Given the description of an element on the screen output the (x, y) to click on. 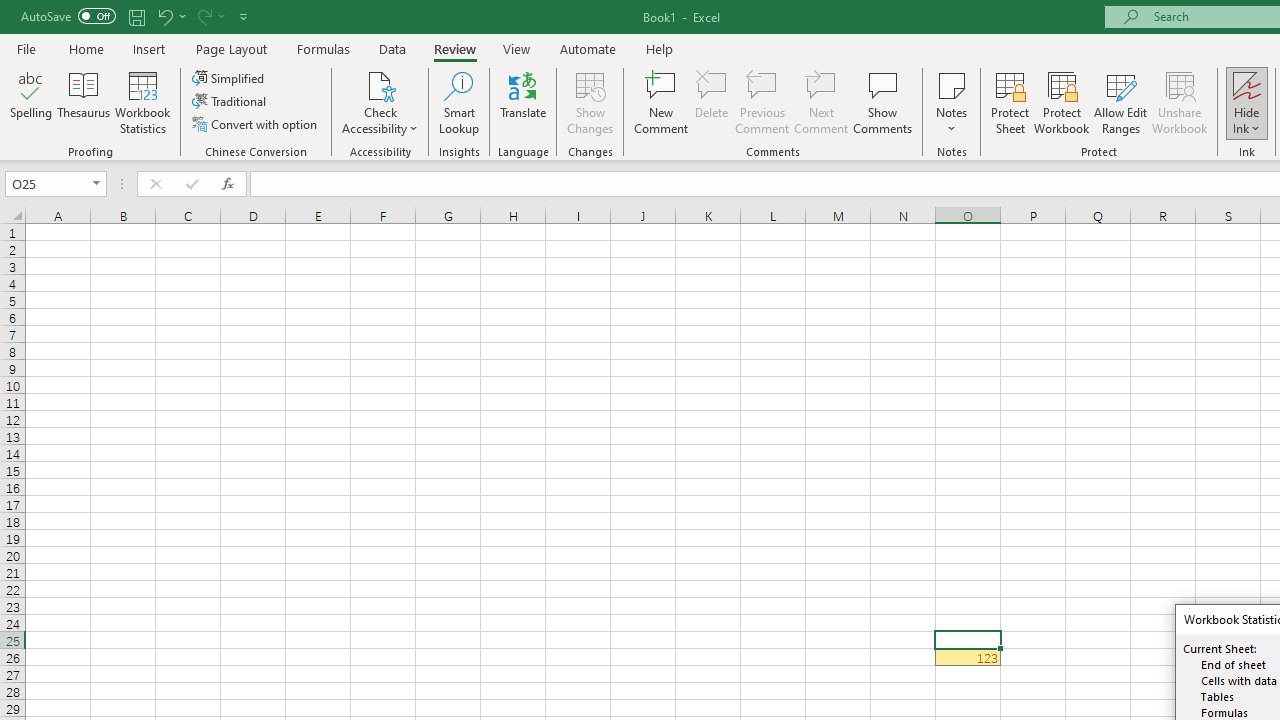
Workbook Statistics (142, 102)
Redo (209, 15)
Show Changes (589, 102)
Undo (170, 15)
Notes (951, 102)
Undo (164, 15)
Open (96, 183)
System (10, 11)
AutoSave (68, 16)
Check Accessibility (380, 102)
Previous Comment (762, 102)
Name Box (56, 183)
Allow Edit Ranges (1120, 102)
Quick Access Toolbar (136, 16)
